Given the description of an element on the screen output the (x, y) to click on. 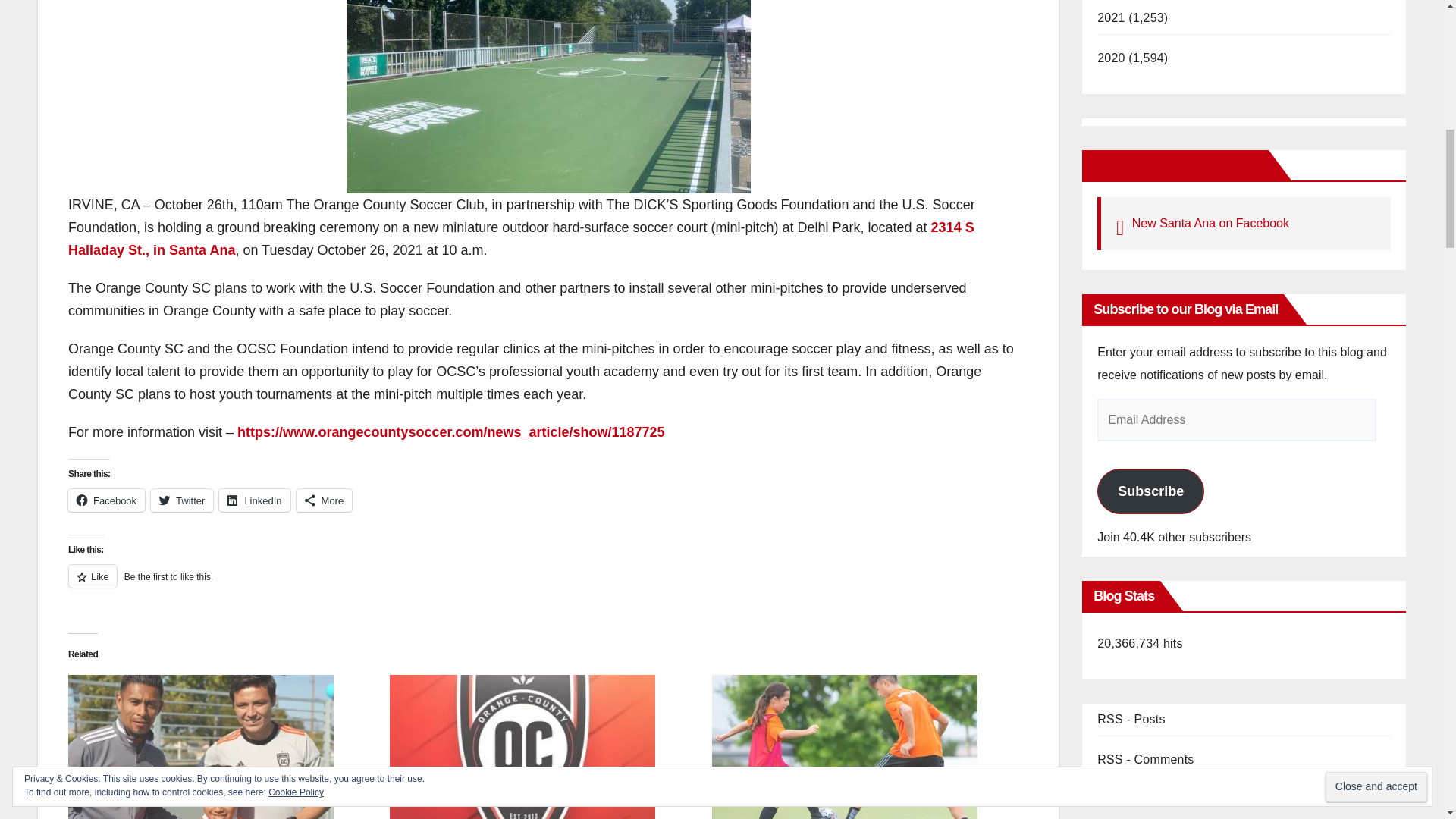
LinkedIn (254, 499)
Click to share on LinkedIn (254, 499)
New-Mini-Pitch-at-Delhi-Park - New Santa Ana (548, 96)
Twitter (181, 499)
More (324, 499)
Click to share on Twitter (181, 499)
Facebook (106, 499)
2314 S Halladay St., in Santa Ana (521, 238)
Click to share on Facebook (106, 499)
